Given the description of an element on the screen output the (x, y) to click on. 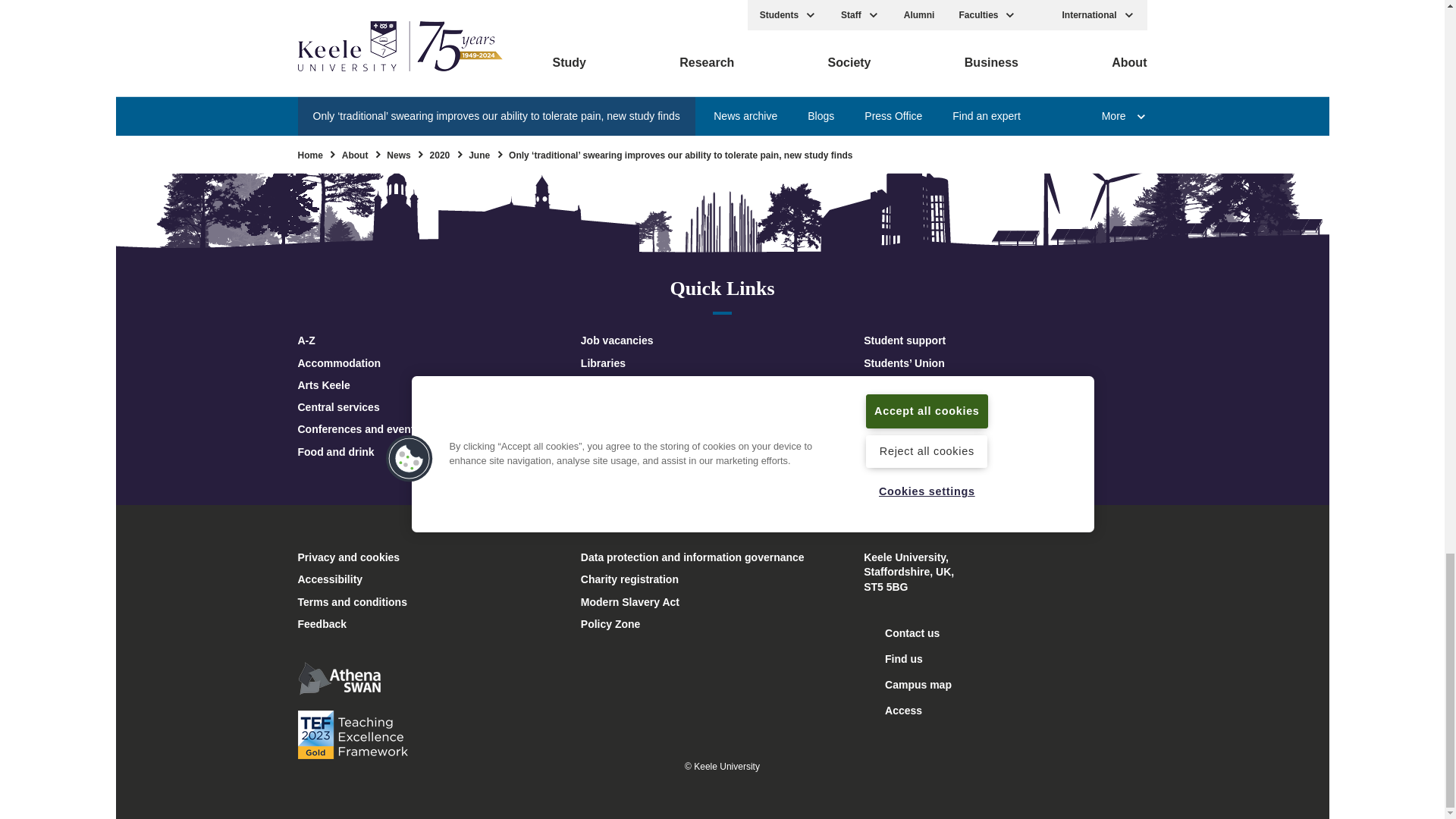
Campus map (907, 684)
Link to Twitter (642, 27)
Find us (893, 658)
Link to Weibo (853, 27)
Access (892, 710)
Link to Facebook (590, 27)
Contact us (901, 632)
Link to Youtube (696, 27)
Link to Instagram (748, 27)
Link to LinkedIn (801, 27)
